Given the description of an element on the screen output the (x, y) to click on. 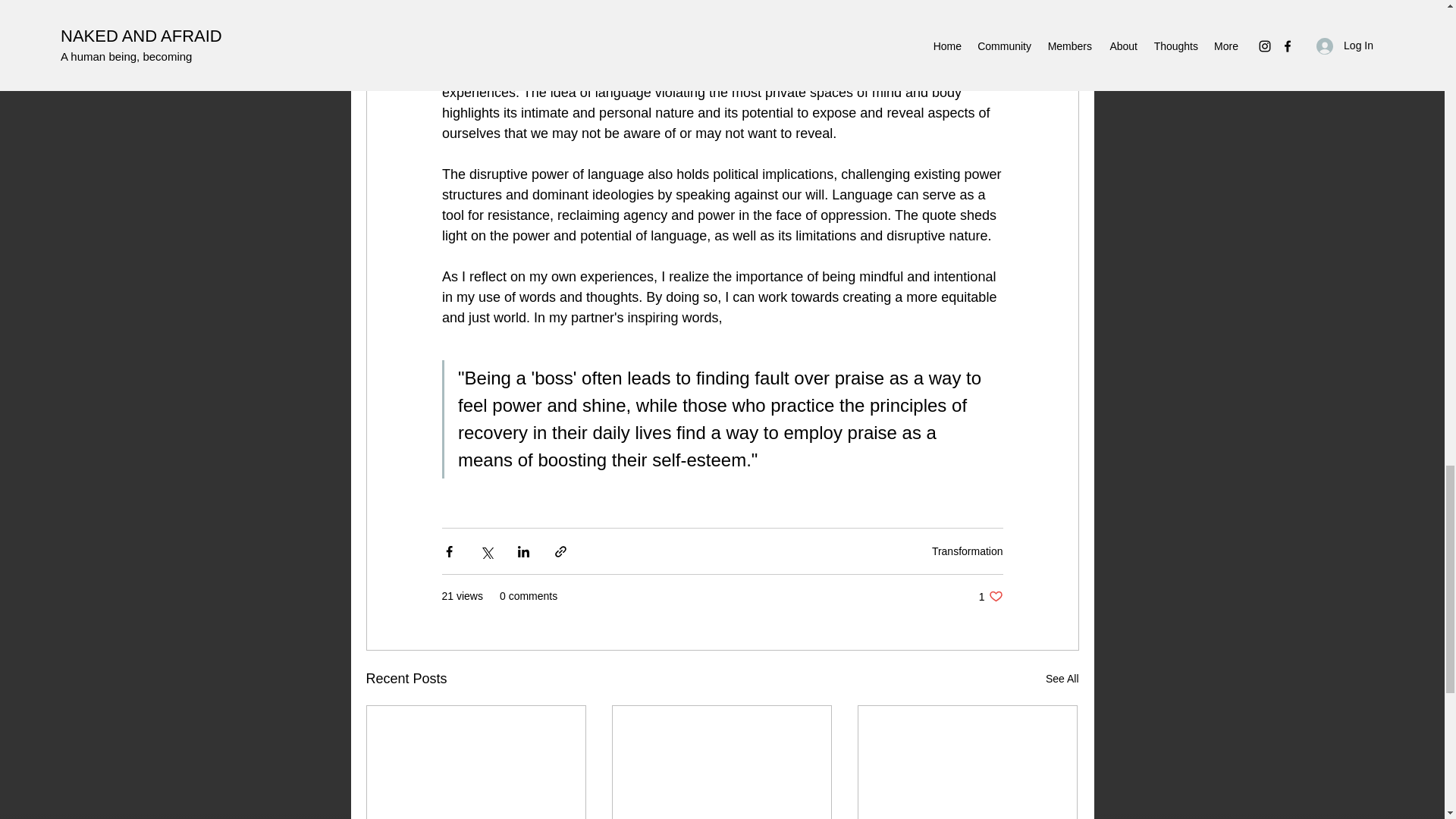
See All (990, 595)
Transformation (1061, 679)
